Given the description of an element on the screen output the (x, y) to click on. 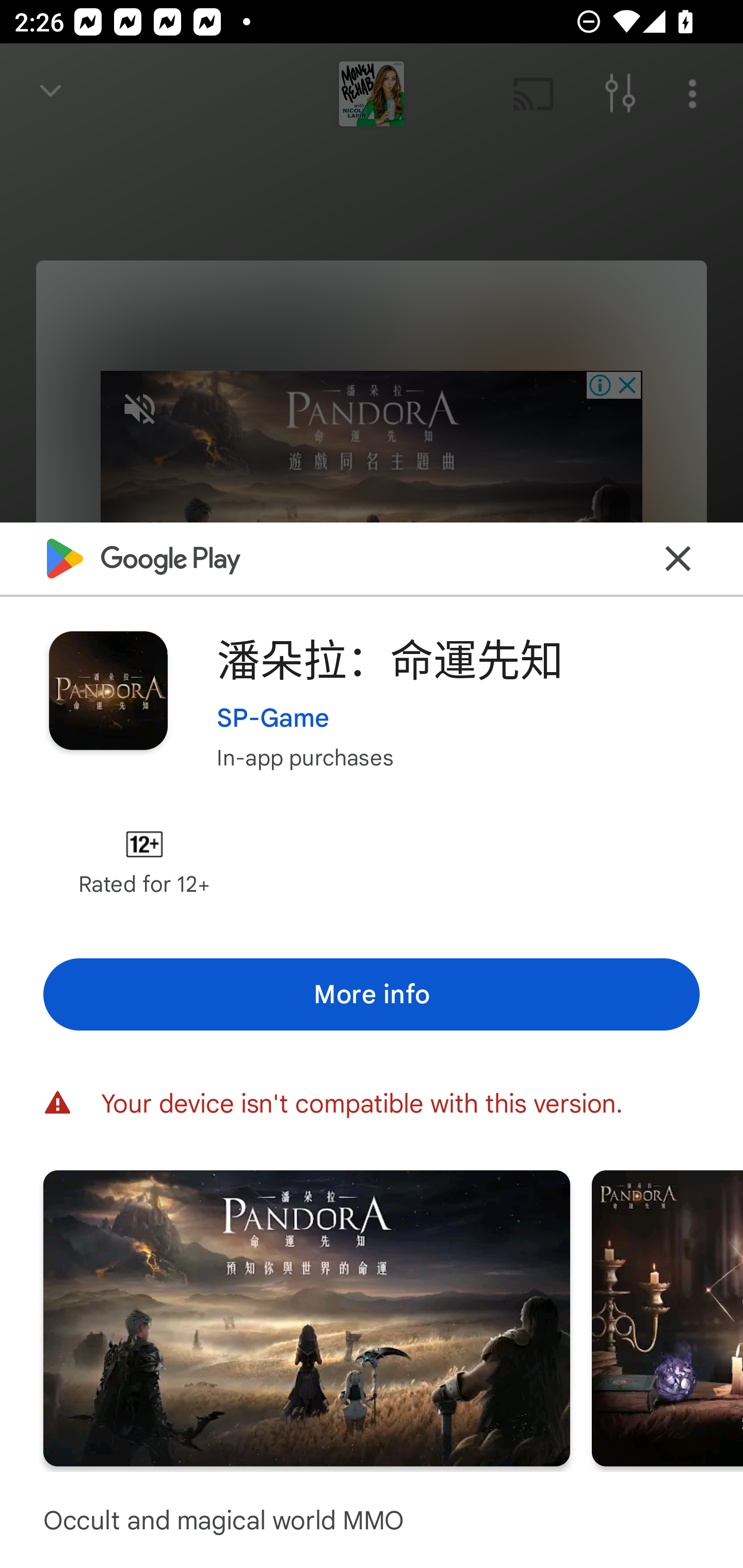
Close (677, 558)
Image of app or game icon for 潘朵拉：命運先知 (108, 690)
SP-Game (272, 716)
More info (371, 994)
Screenshot "1" of "6" (306, 1317)
